Given the description of an element on the screen output the (x, y) to click on. 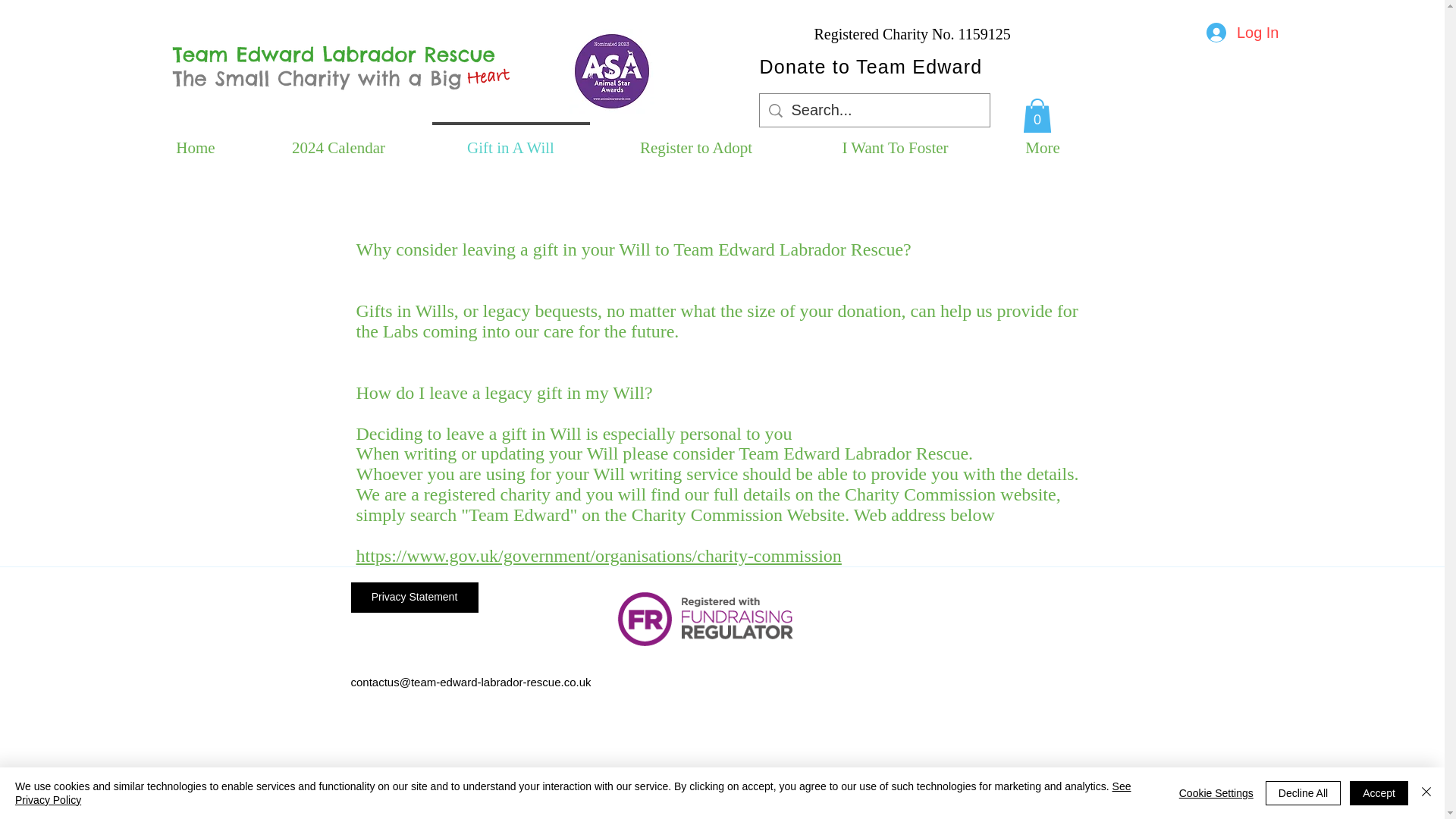
Accept (1378, 793)
I Want To Foster (895, 140)
Log In (1242, 32)
Register to Adopt (694, 140)
Donate to Team Edward (871, 66)
Privacy Statement (413, 597)
See Privacy Policy (572, 792)
Gift in A Will (510, 140)
2024 Calendar (338, 140)
Home (195, 140)
Decline All (1302, 793)
